Given the description of an element on the screen output the (x, y) to click on. 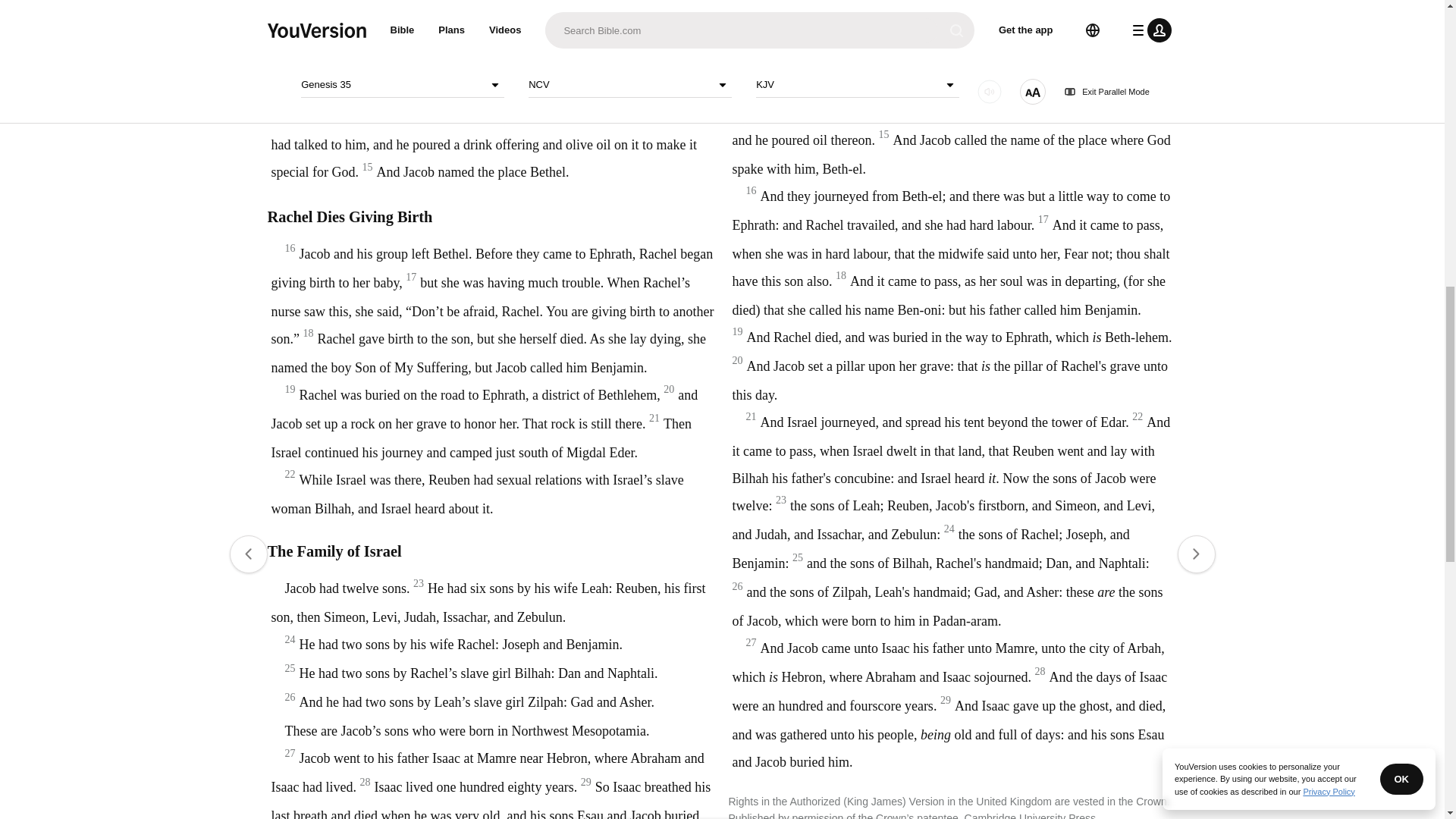
: (599, 47)
Genesis 35: NCV (620, 47)
Sign up or sign in (774, 245)
